Given the description of an element on the screen output the (x, y) to click on. 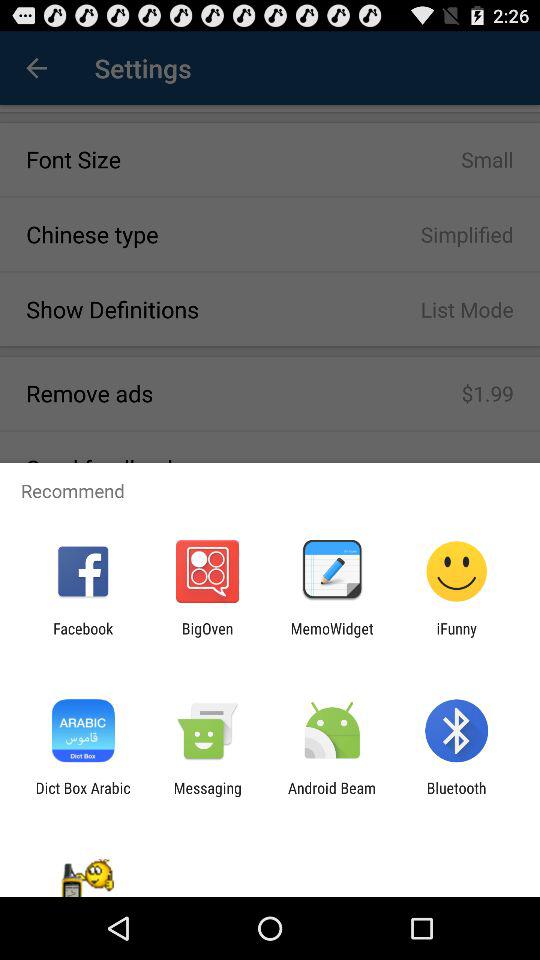
press memowidget (331, 637)
